Given the description of an element on the screen output the (x, y) to click on. 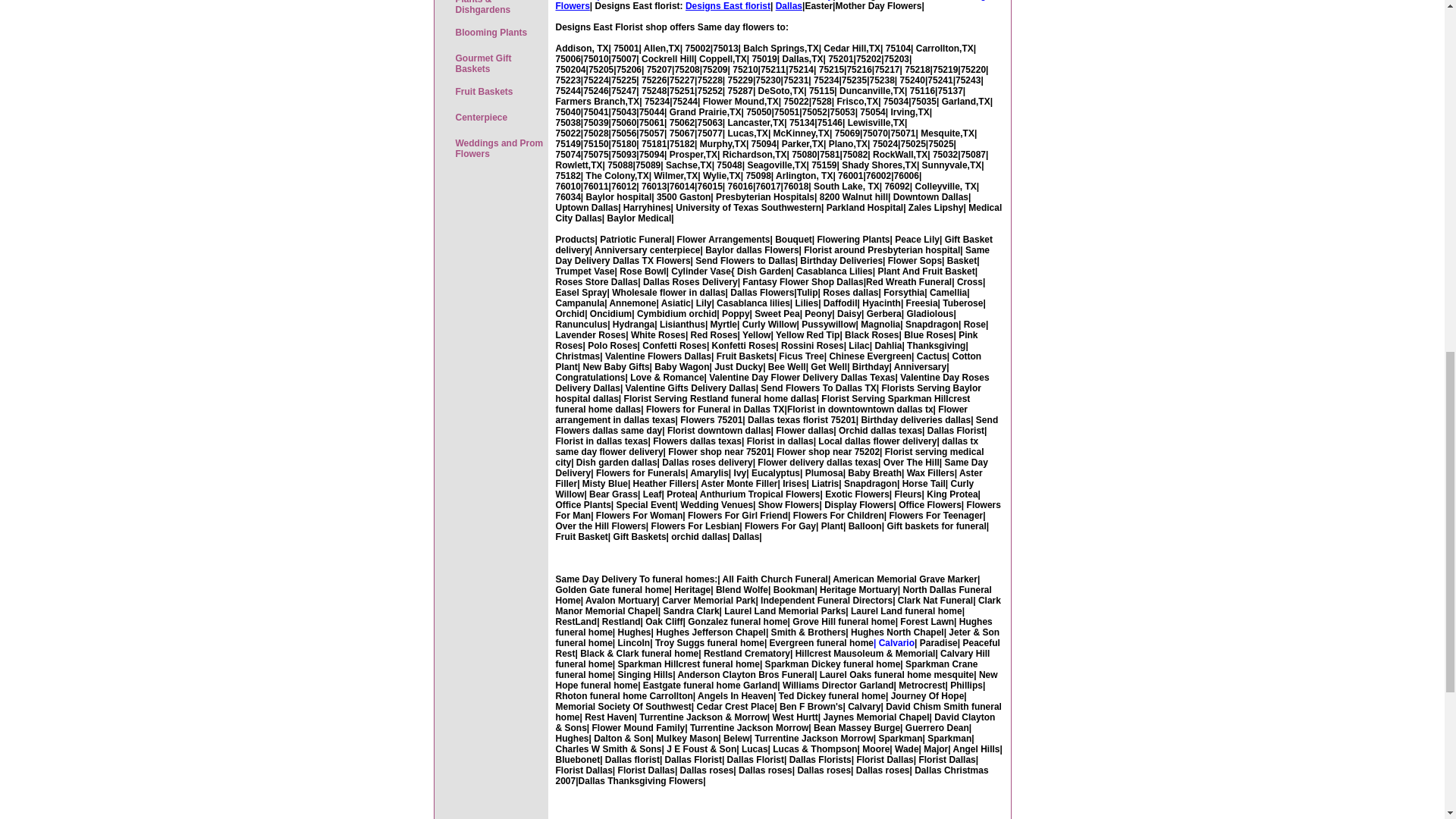
Dallas (789, 5)
Designs East florist (727, 5)
Dallas Wedding Flowers (769, 5)
